Given the description of an element on the screen output the (x, y) to click on. 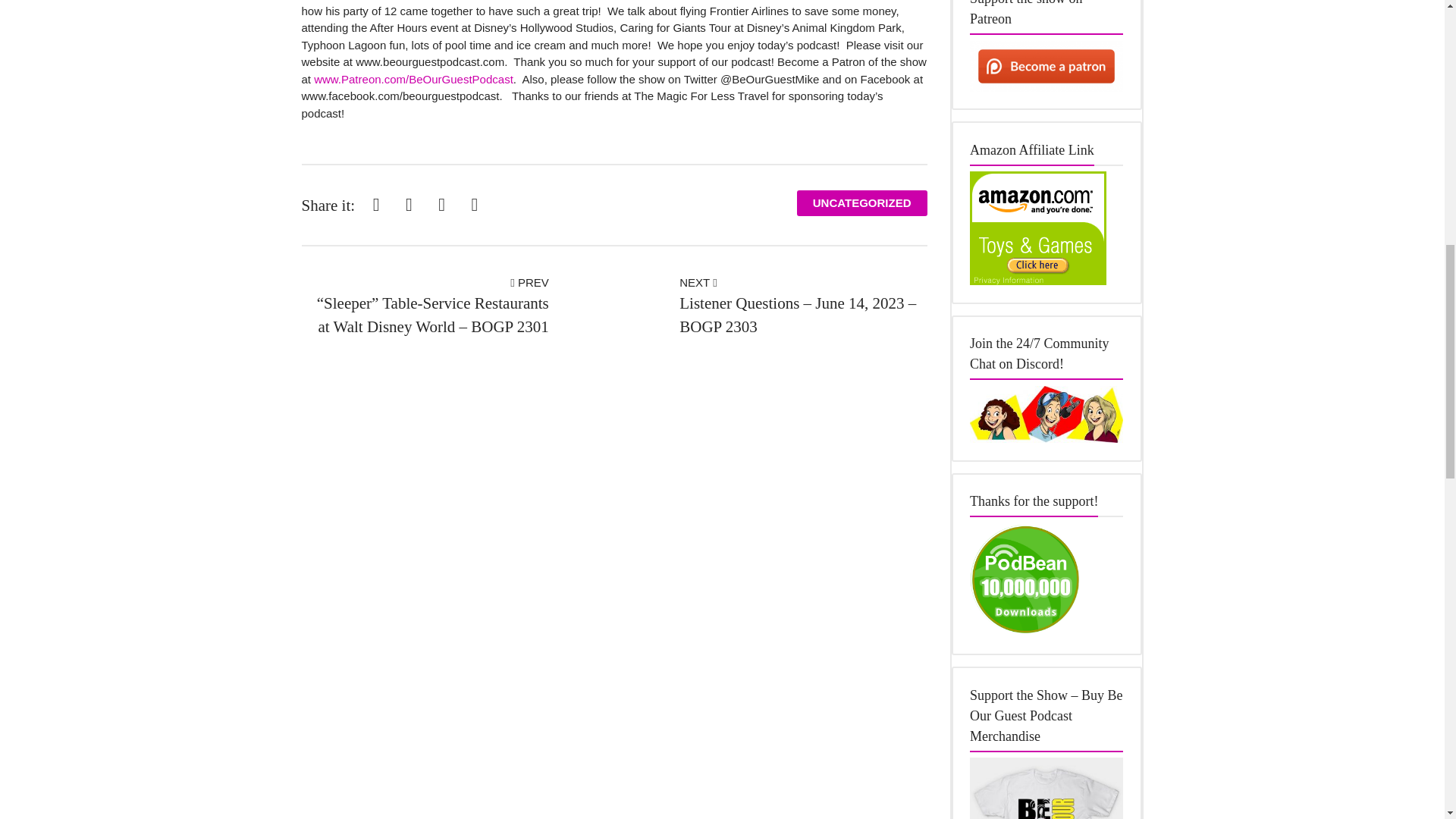
UNCATEGORIZED (861, 203)
PREV (529, 282)
NEXT (697, 282)
